Given the description of an element on the screen output the (x, y) to click on. 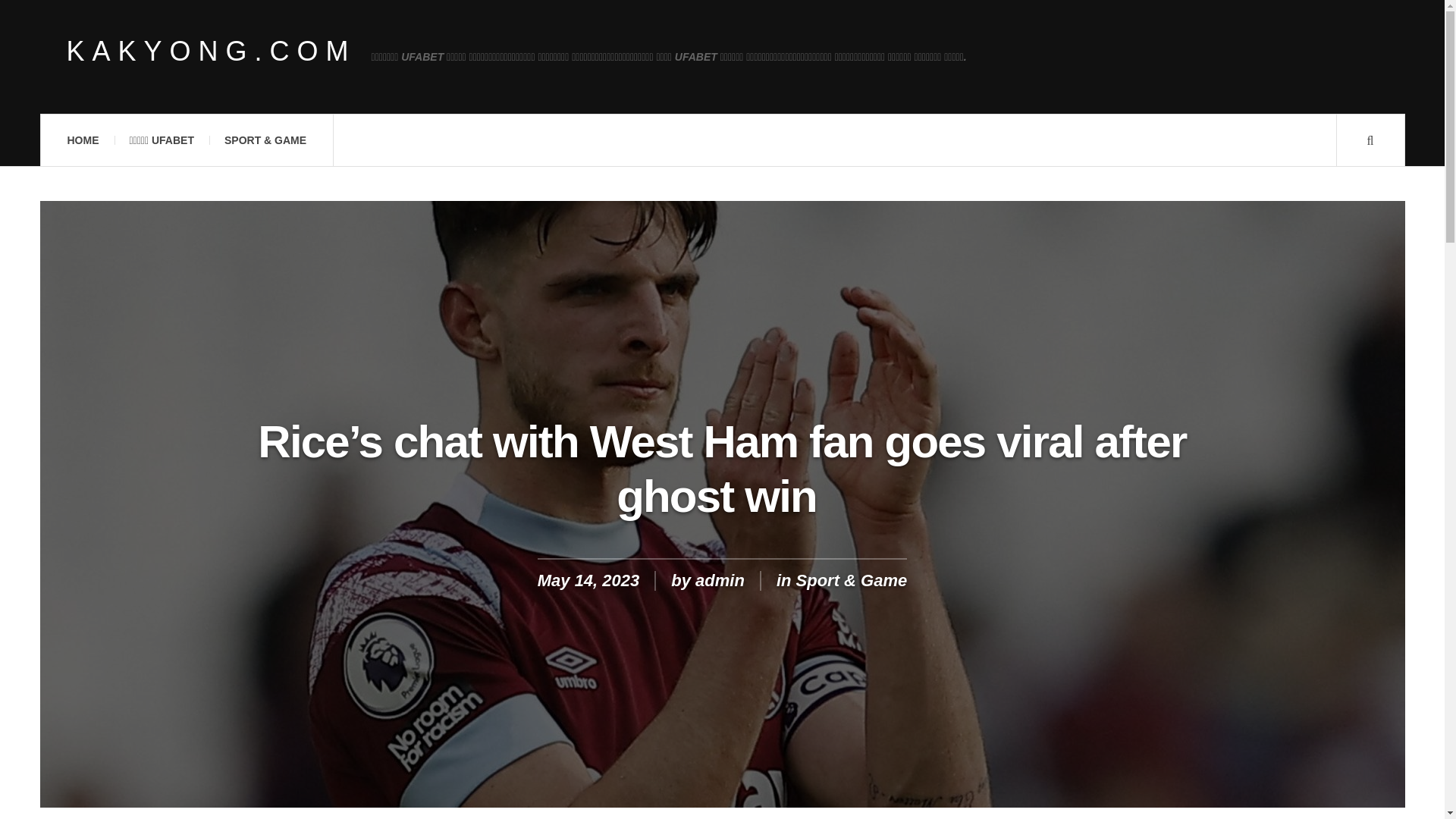
admin (719, 579)
kakyong.com (211, 51)
HOME (81, 140)
KAKYONG.COM (211, 51)
